Given the description of an element on the screen output the (x, y) to click on. 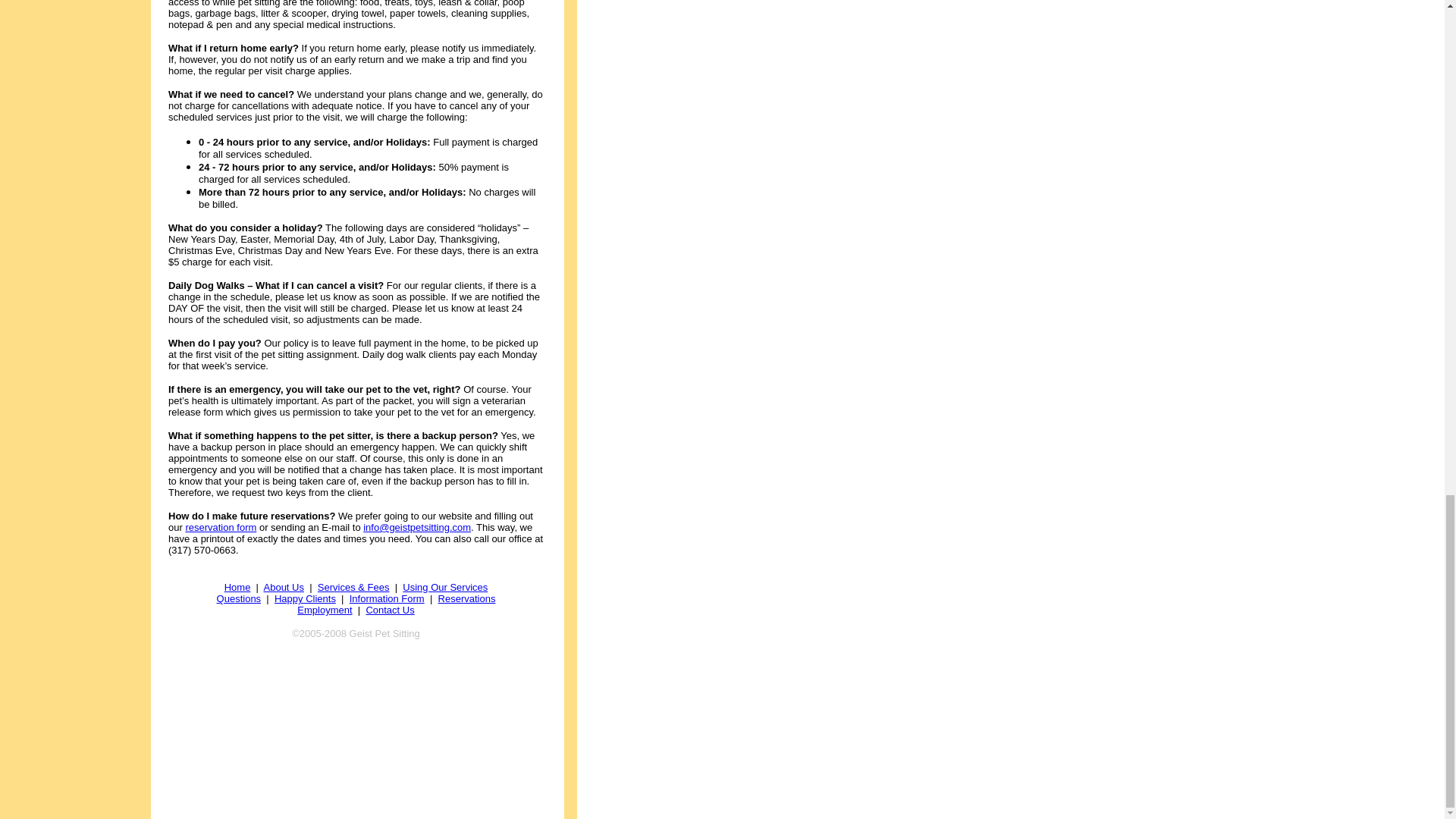
Employment (324, 609)
Questions (239, 598)
Happy Clients (305, 598)
Home (237, 586)
Using Our Services (445, 586)
Information Form (387, 598)
Reservations (467, 598)
About Us (283, 586)
Contact Us (389, 609)
reservation form (220, 527)
